Given the description of an element on the screen output the (x, y) to click on. 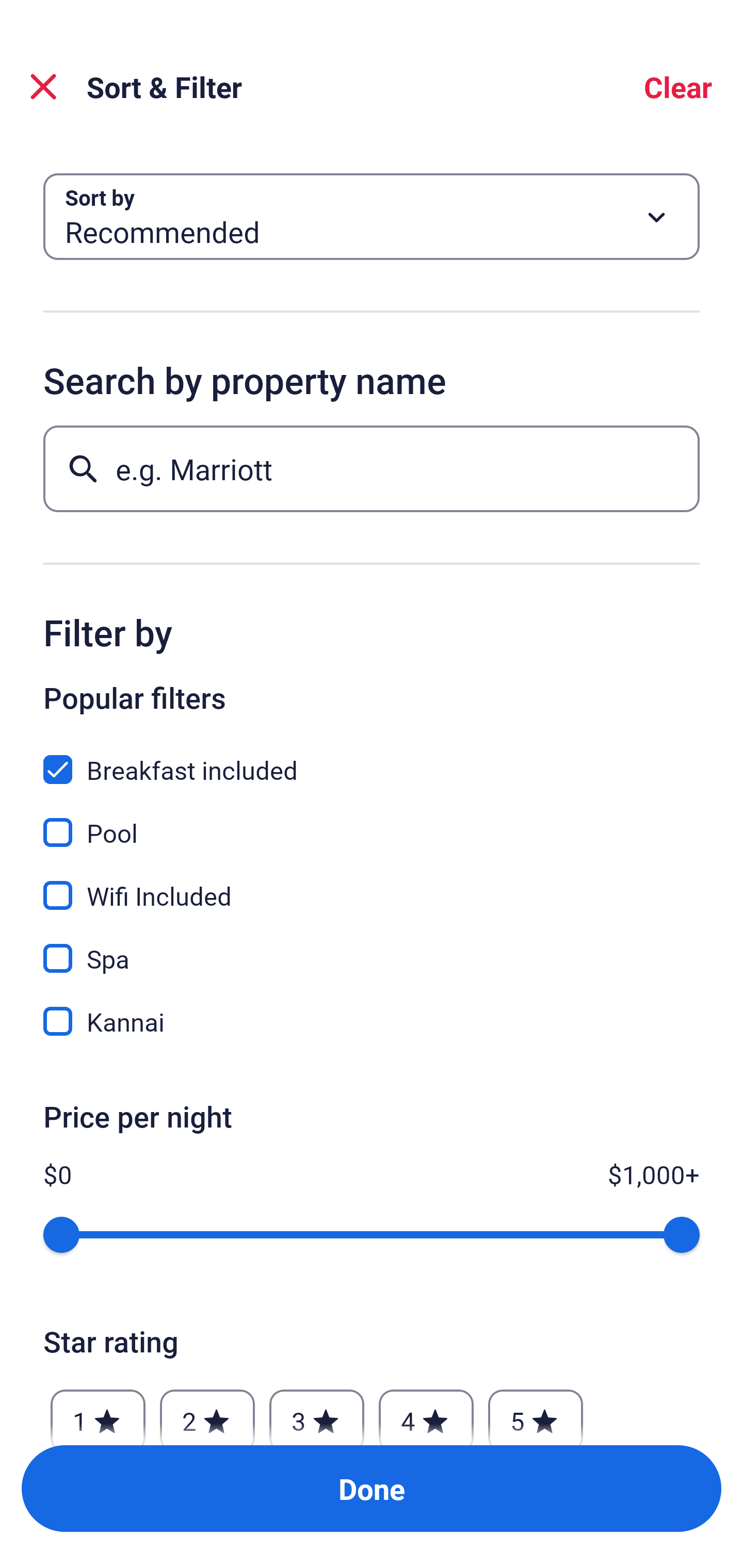
Close Sort and Filter (43, 86)
Clear (677, 86)
Sort by Button Recommended (371, 217)
e.g. Marriott Button (371, 468)
Breakfast included, Breakfast included (371, 757)
Pool, Pool (371, 821)
Wifi Included, Wifi Included (371, 883)
Spa, Spa (371, 946)
Kannai, Kannai (371, 1021)
1 (97, 1411)
2 (206, 1411)
3 (316, 1411)
4 (426, 1411)
5 (535, 1411)
Apply and close Sort and Filter Done (371, 1488)
